Given the description of an element on the screen output the (x, y) to click on. 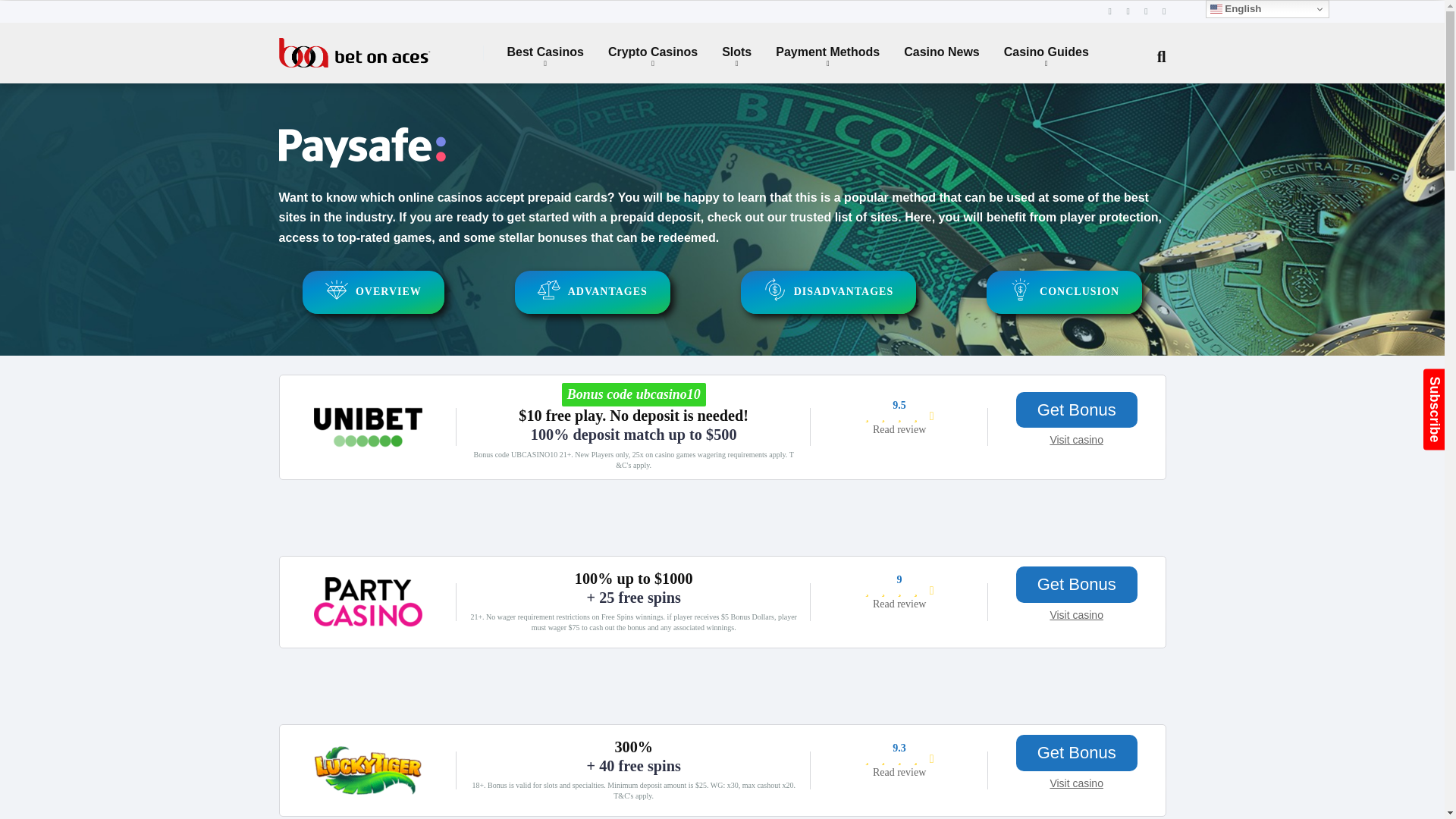
Betonaces (354, 46)
Party Casino (368, 627)
Slots (736, 52)
Unibet Casino (368, 452)
Lucky Tiger (368, 796)
Get Bonus (1076, 584)
Get Bonus (1076, 752)
Casino News (941, 52)
Casino Guides (1045, 52)
Read More (899, 772)
Best Casinos (545, 52)
Read More (899, 603)
Read More (899, 429)
Get Bonus (1076, 410)
Crypto Casinos (652, 52)
